Given the description of an element on the screen output the (x, y) to click on. 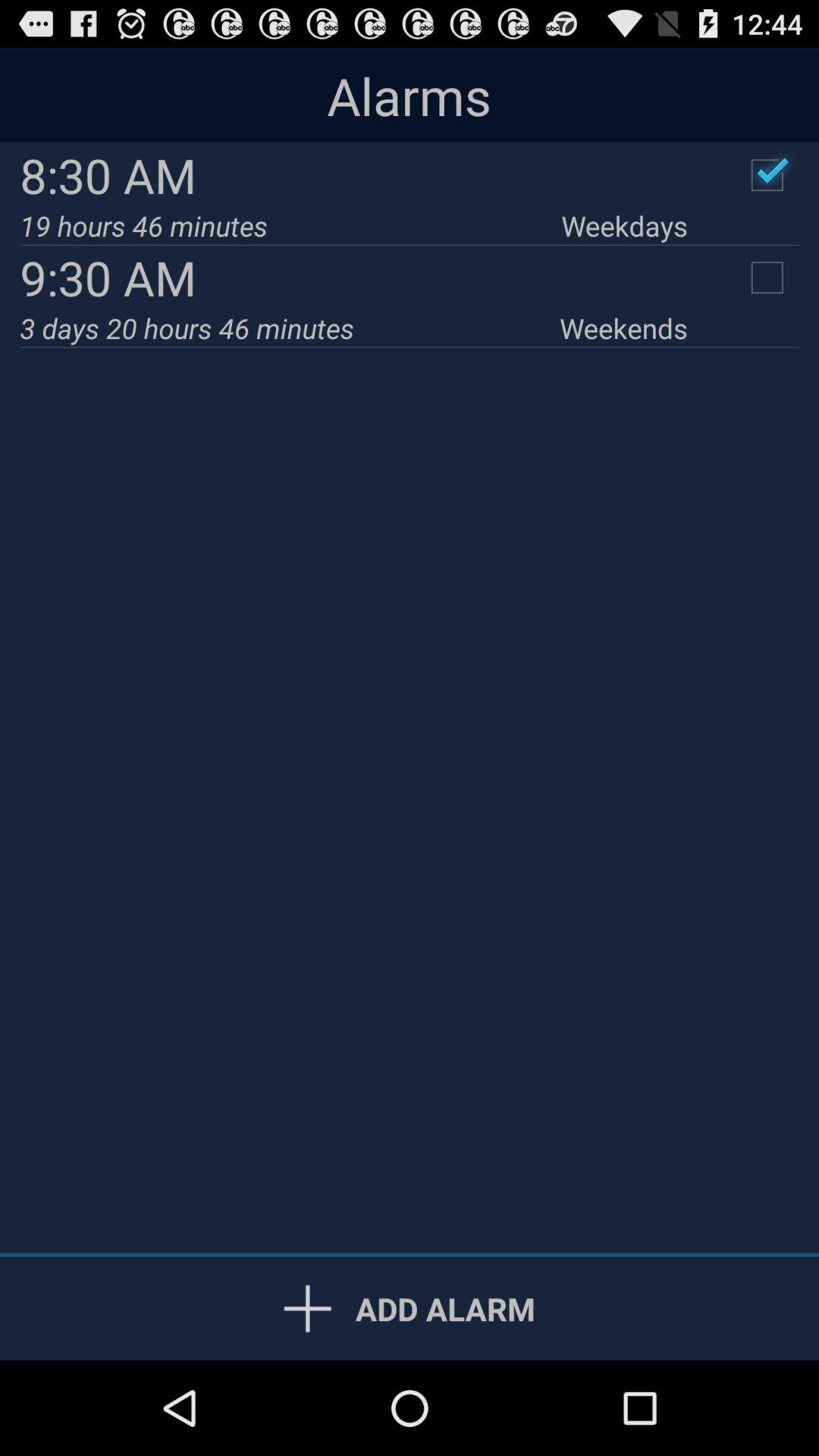
press item below 9:30 am (623, 327)
